Given the description of an element on the screen output the (x, y) to click on. 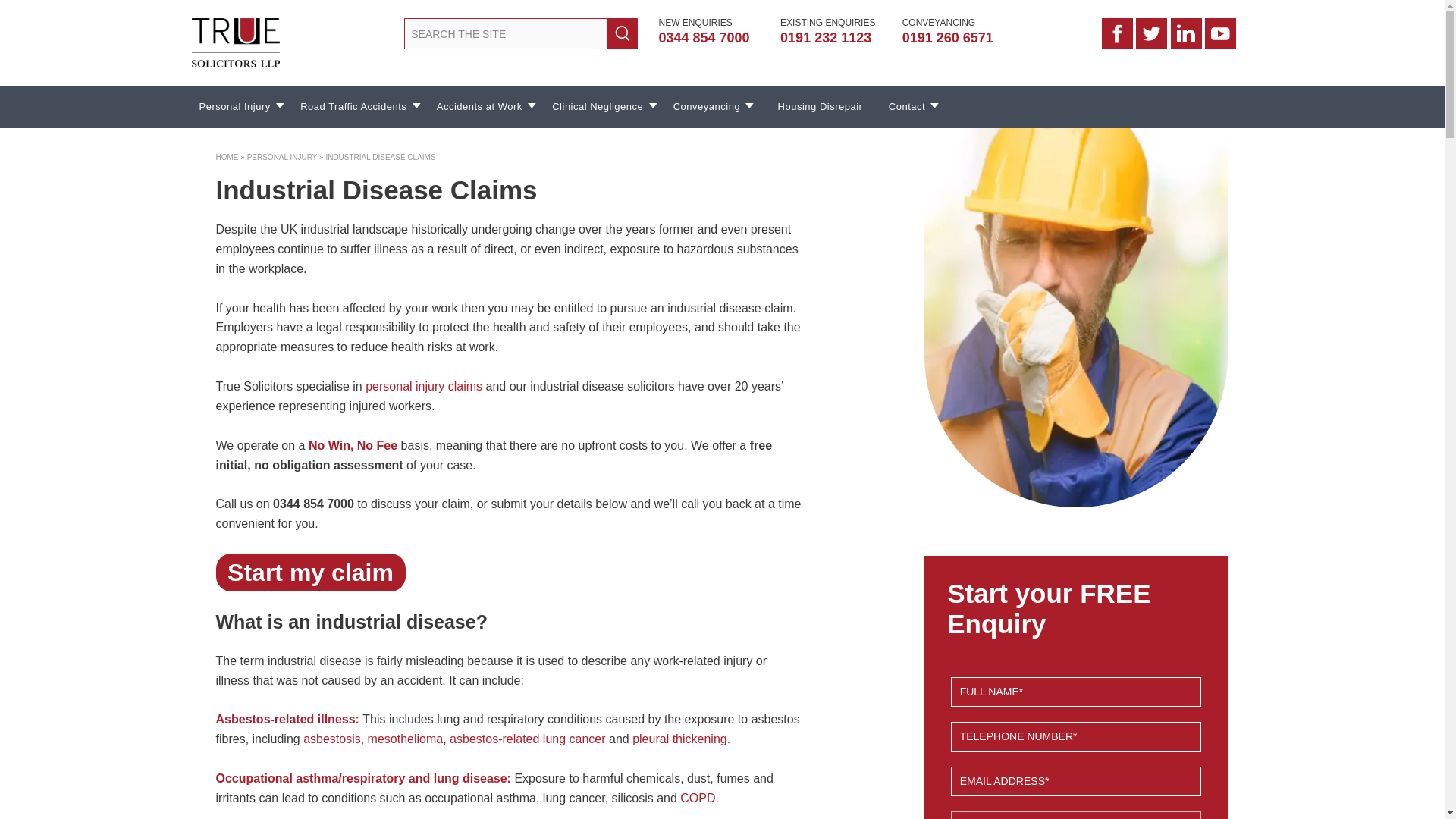
0191 232 1123 (835, 38)
0191 260 6571 (957, 38)
0344 854 7000 (713, 38)
Personal Injury (239, 106)
